Given the description of an element on the screen output the (x, y) to click on. 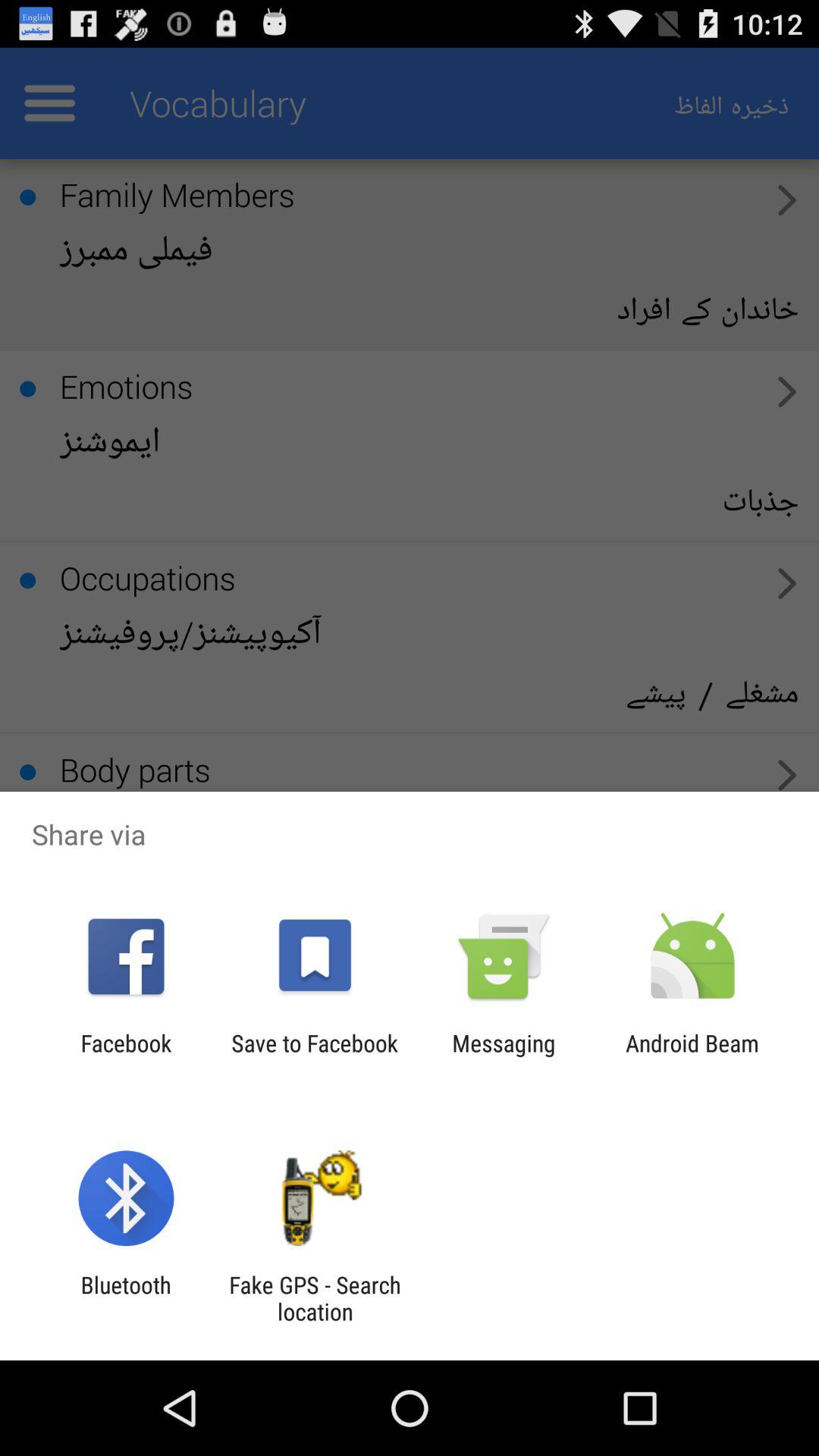
choose the app to the right of the bluetooth app (314, 1298)
